Given the description of an element on the screen output the (x, y) to click on. 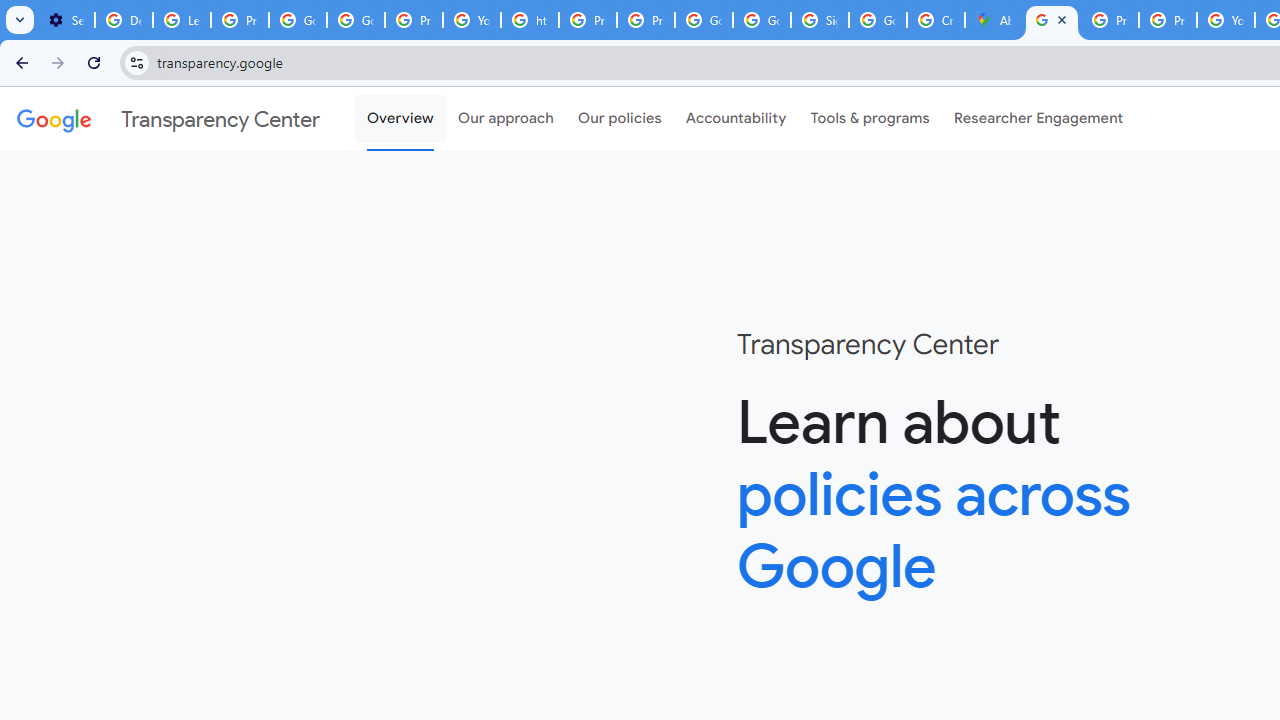
YouTube (1225, 20)
Privacy Help Center - Policies Help (1110, 20)
Settings - On startup (65, 20)
YouTube (471, 20)
Google Account Help (297, 20)
